Given the description of an element on the screen output the (x, y) to click on. 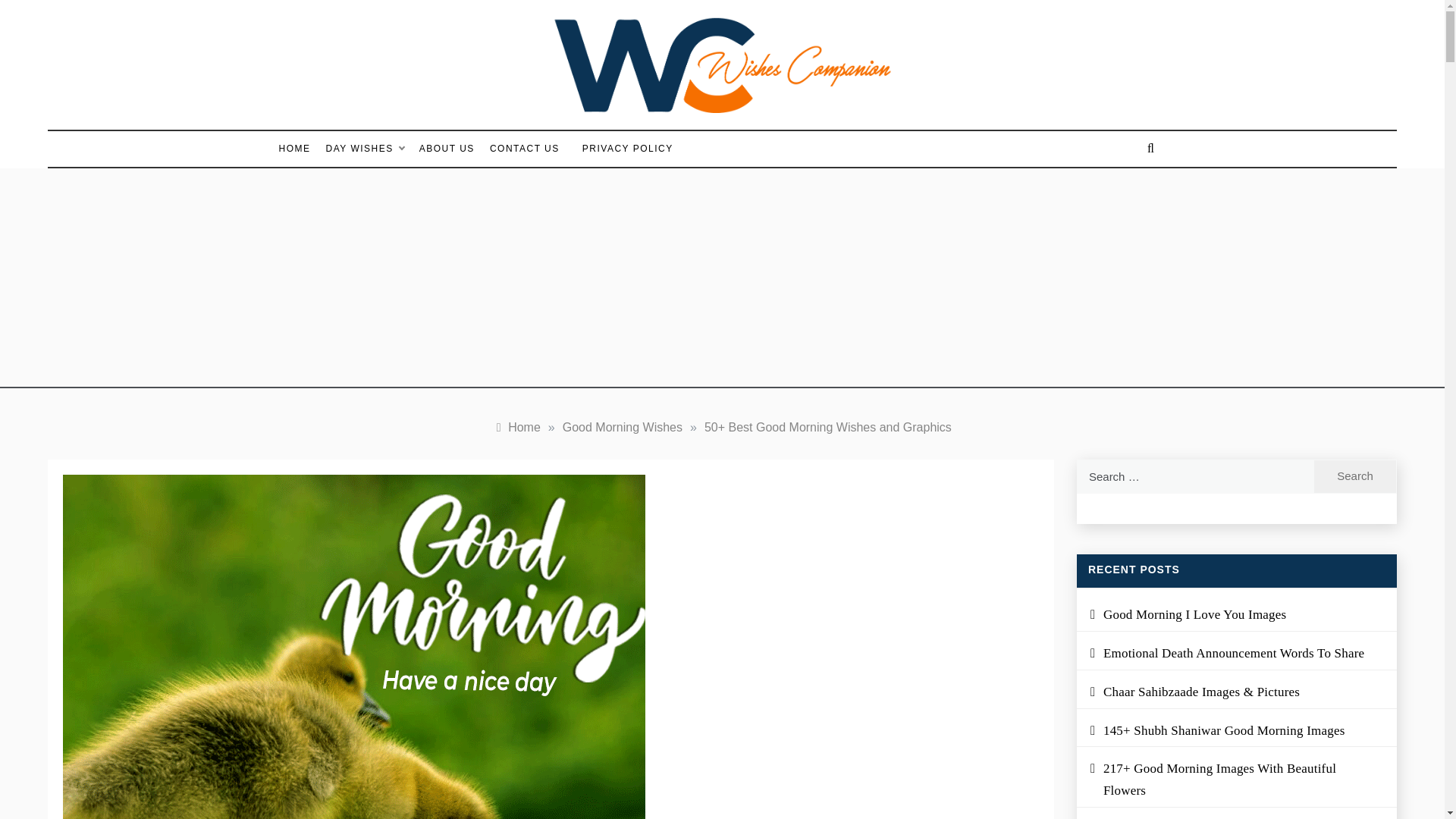
HOME (298, 149)
ABOUT US (446, 149)
Home (516, 427)
CONTACT US (524, 149)
Search (1355, 476)
Search (1355, 476)
Good Morning Wishes (622, 427)
Good Morning I Love You Images (1194, 614)
Search (1355, 476)
